Given the description of an element on the screen output the (x, y) to click on. 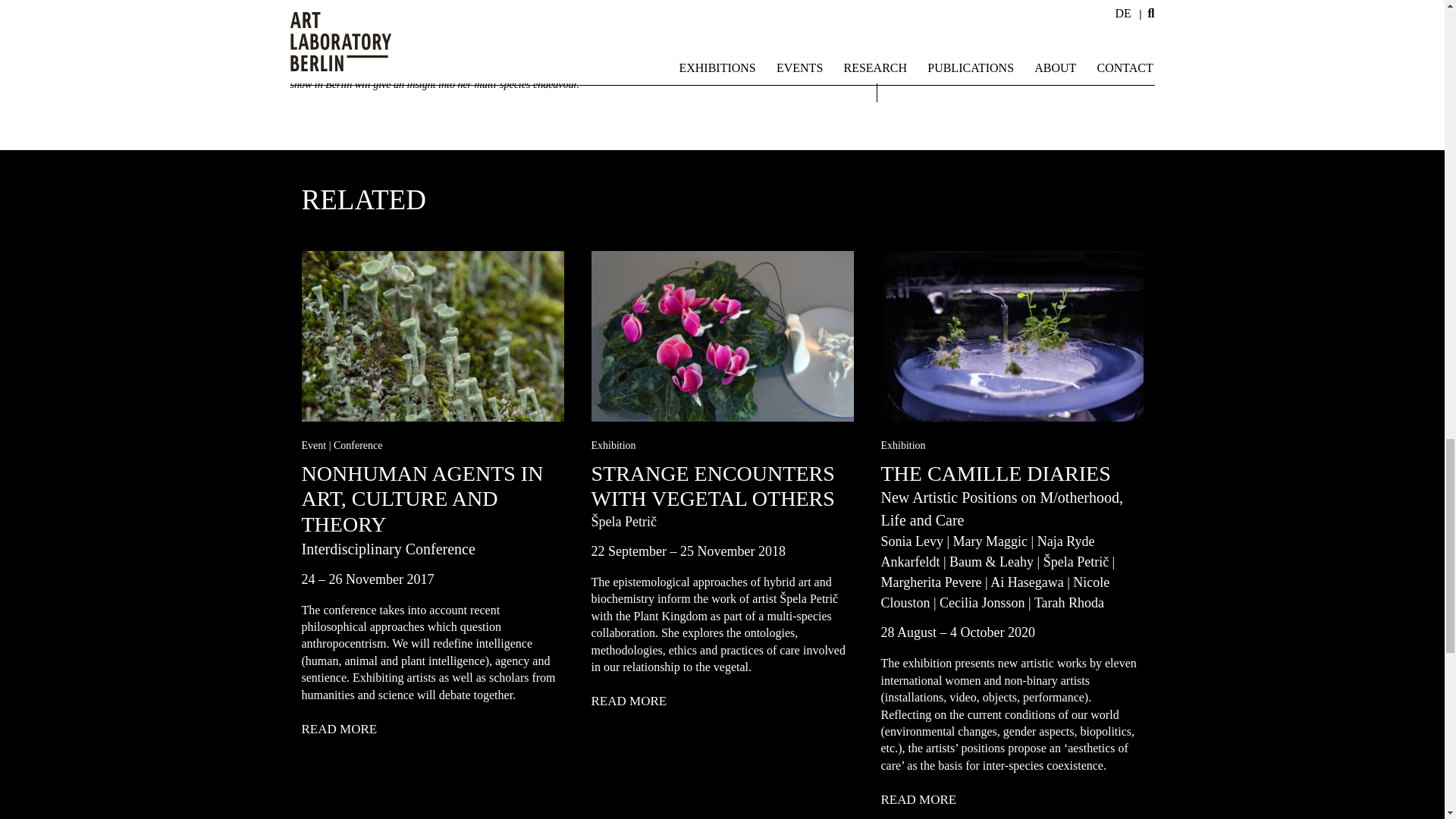
THE CAMILLE DIARIES (995, 473)
Event (316, 437)
READ MORE (628, 701)
READ MORE (918, 799)
Phytocracy in situ (432, 335)
NONHUMAN AGENTS IN ART, CULTURE AND THEORY (432, 499)
Exhibition (613, 437)
Phytocracy in situ (918, 799)
STRANGE ENCOUNTERS WITH VEGETAL OTHERS (722, 486)
Phytocracy in situ (1011, 335)
